Given the description of an element on the screen output the (x, y) to click on. 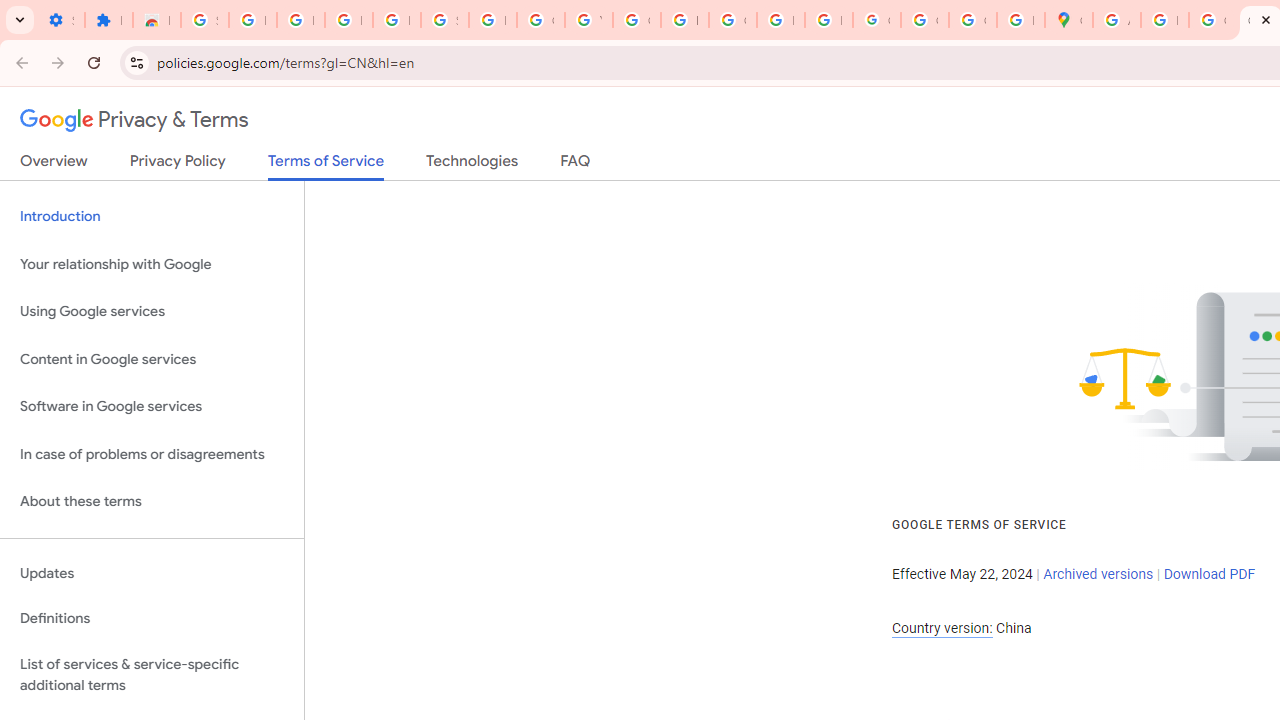
Definitions (152, 619)
Software in Google services (152, 407)
Google Account (540, 20)
Reviews: Helix Fruit Jump Arcade Game (156, 20)
https://scholar.google.com/ (684, 20)
Content in Google services (152, 358)
